Given the description of an element on the screen output the (x, y) to click on. 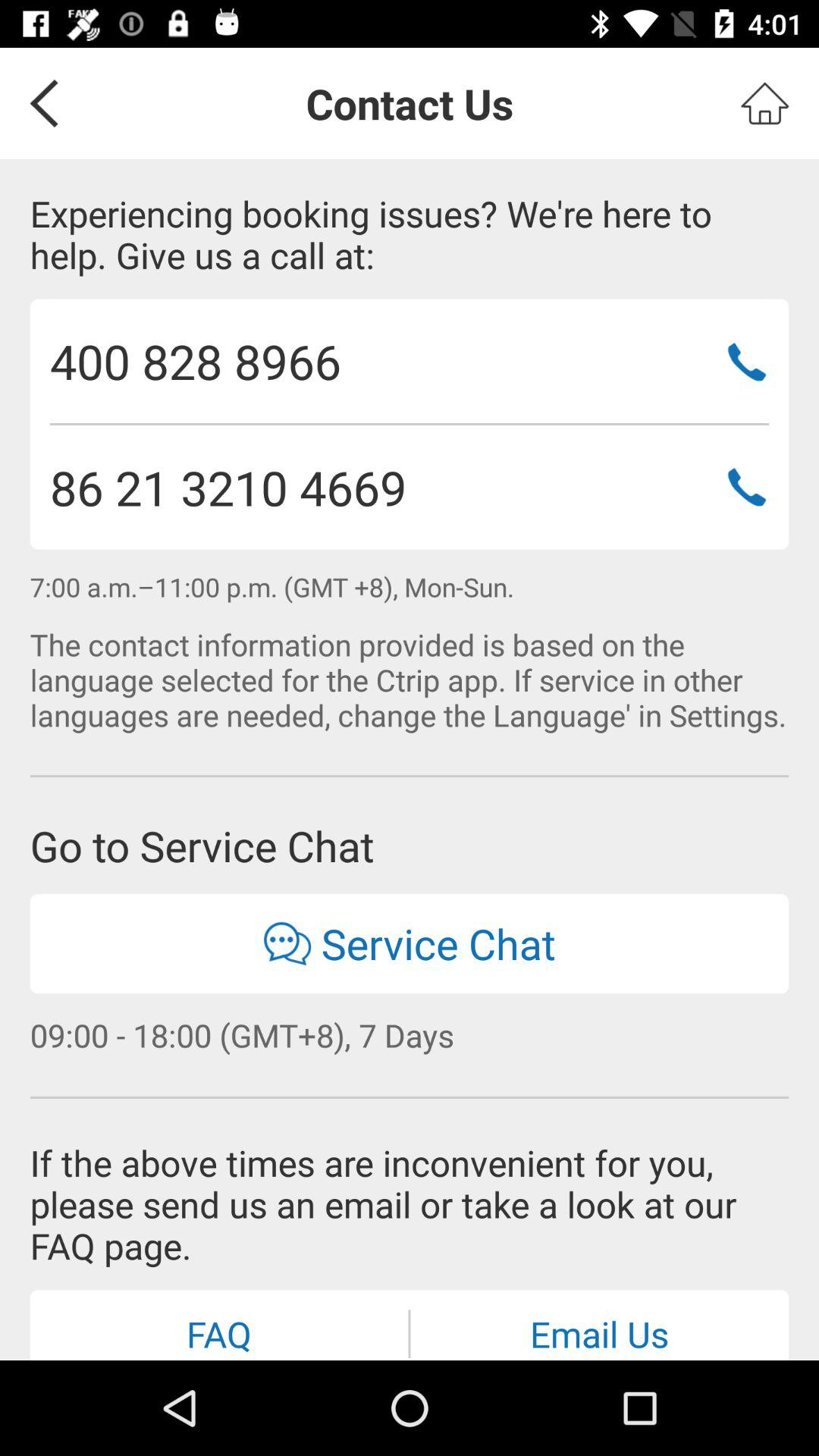
go to home screen (764, 103)
